Given the description of an element on the screen output the (x, y) to click on. 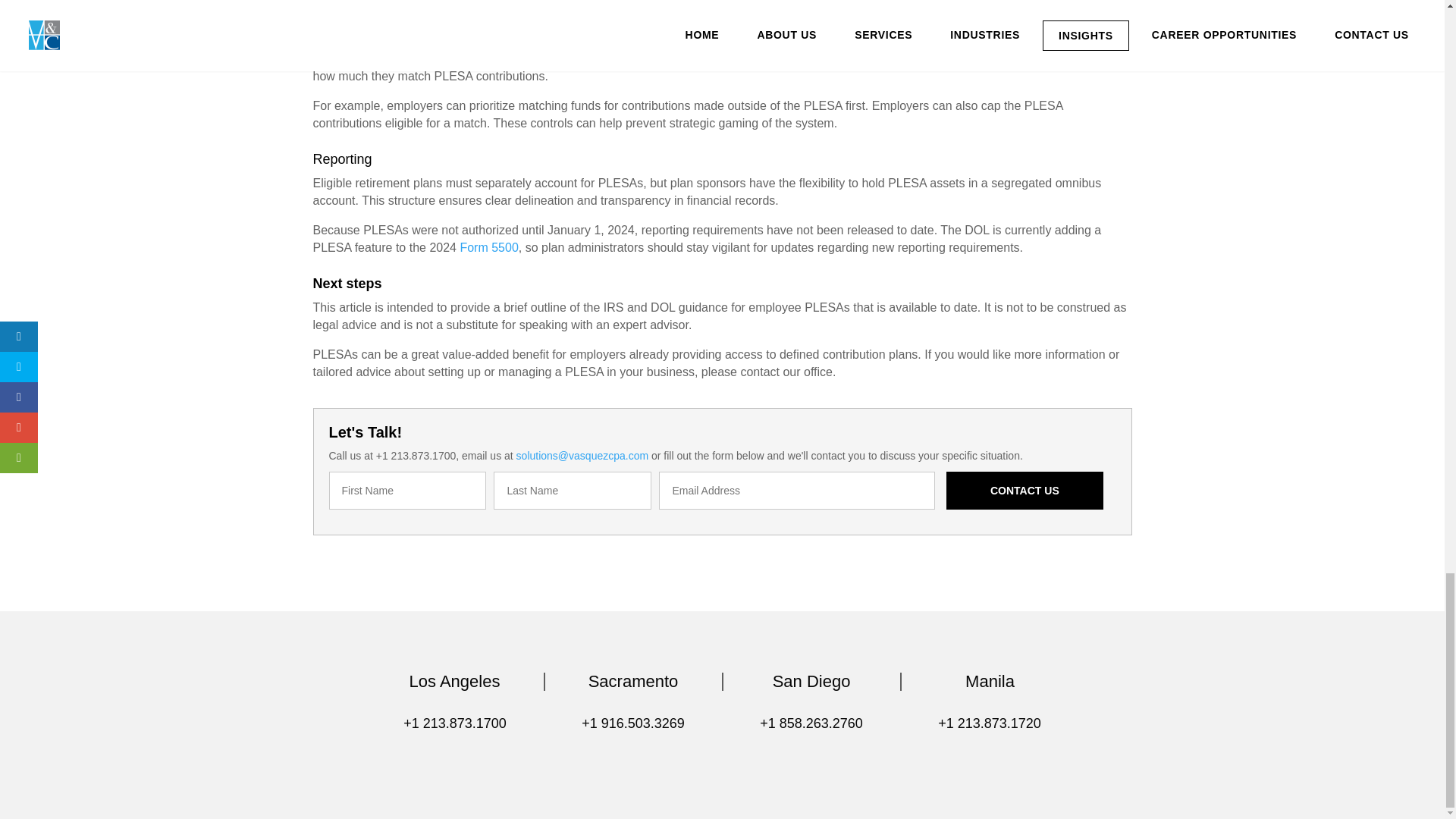
Form 5500 (489, 246)
CONTACT US (1024, 490)
